Given the description of an element on the screen output the (x, y) to click on. 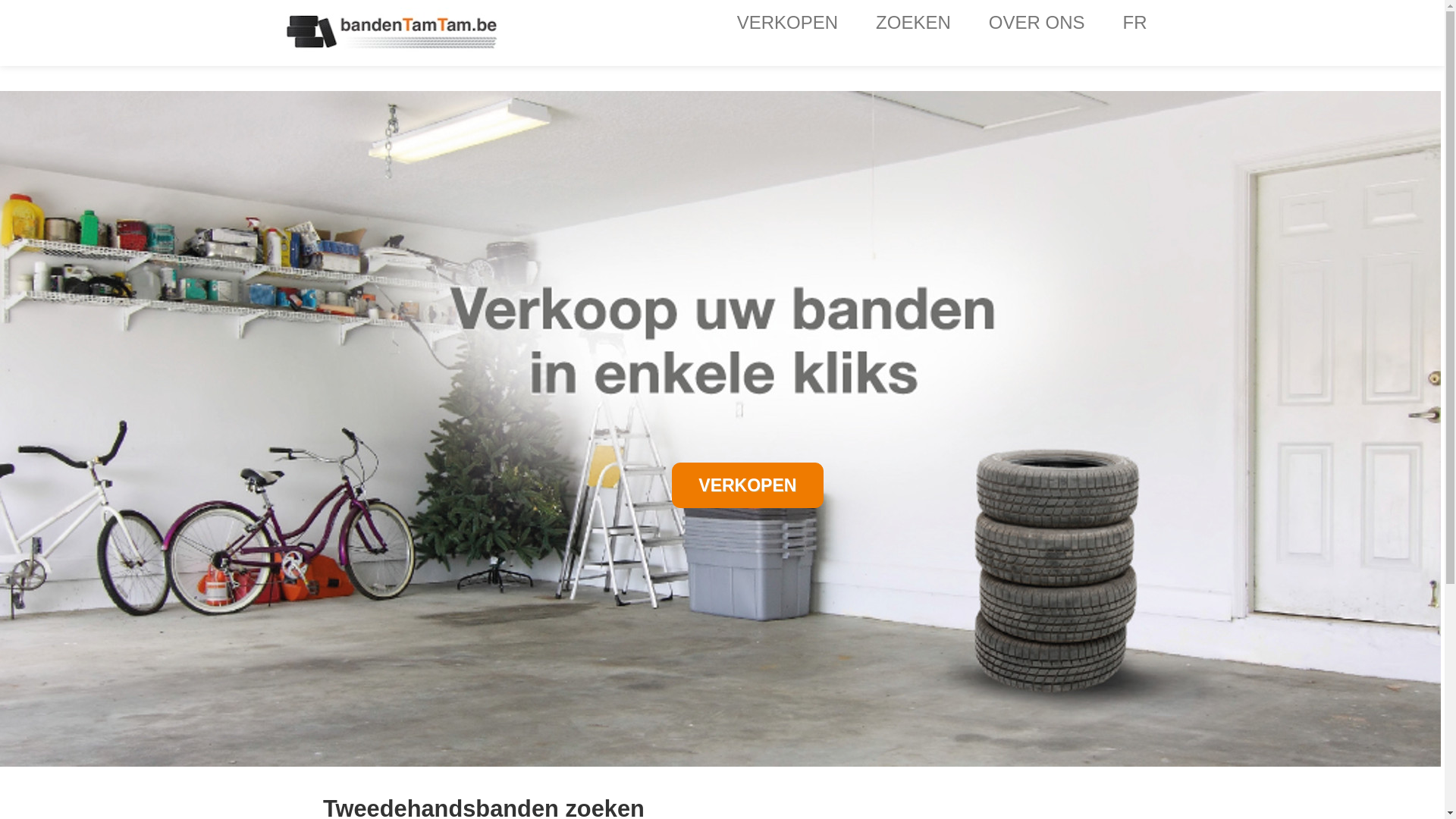
VERKOPEN Element type: text (747, 485)
VERKOPEN Element type: text (787, 18)
FR Element type: text (1135, 18)
OVER ONS Element type: text (1036, 18)
ZOEKEN Element type: text (912, 18)
